Given the description of an element on the screen output the (x, y) to click on. 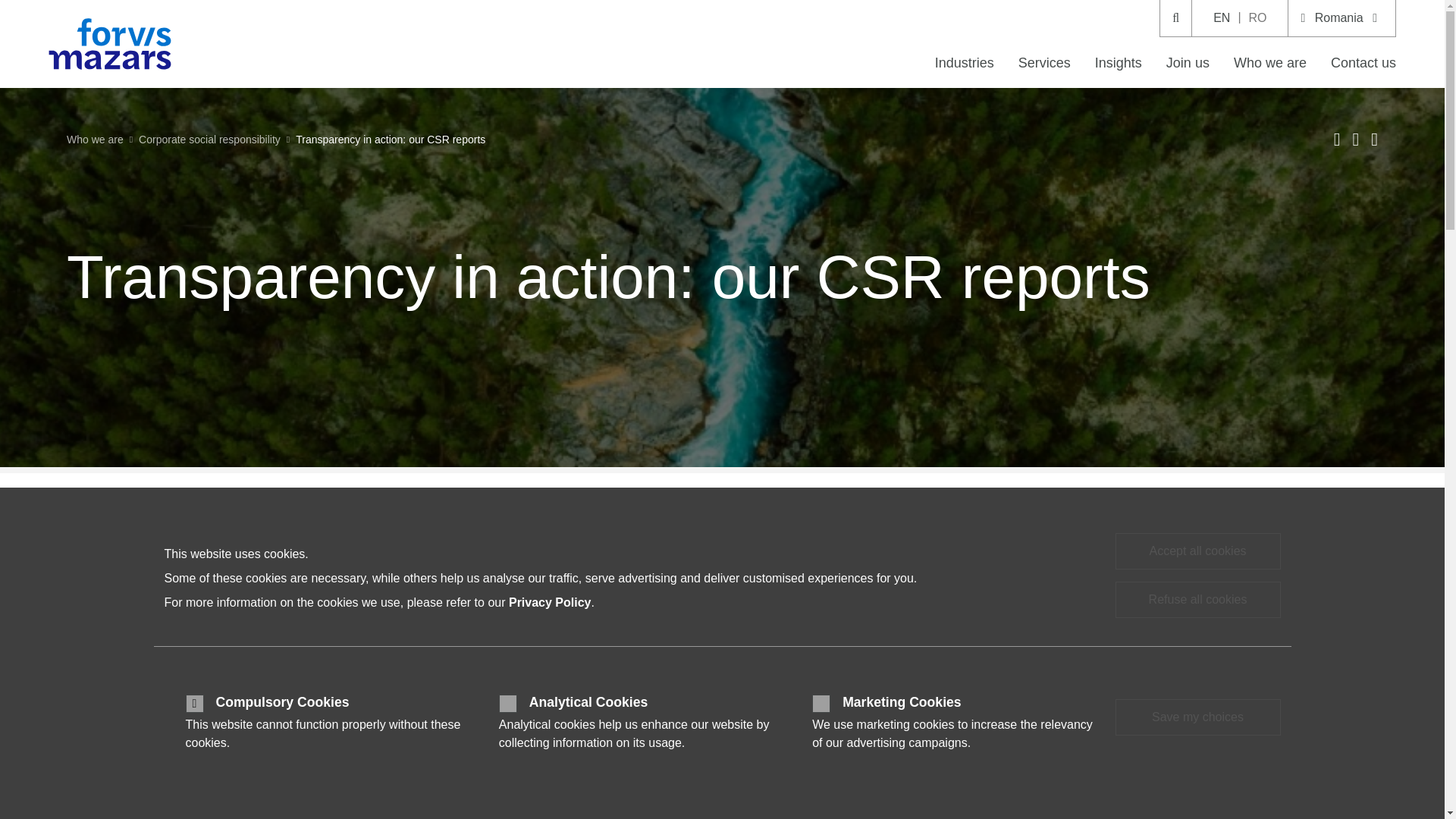
Romania (1341, 18)
RO (1257, 17)
